Given the description of an element on the screen output the (x, y) to click on. 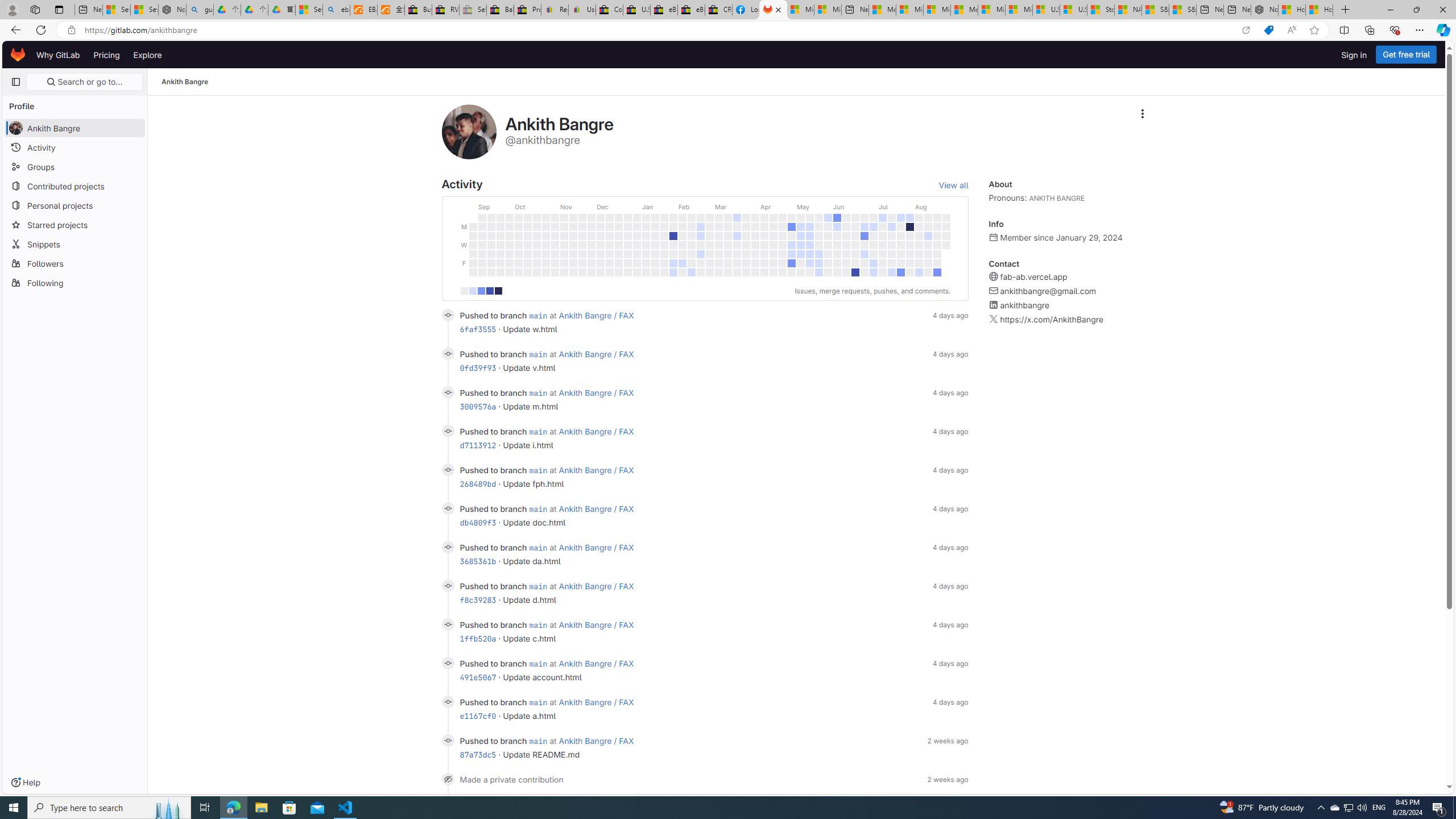
Class: s14 (448, 740)
Contributed projects (74, 185)
User profile picture (468, 131)
